Given the description of an element on the screen output the (x, y) to click on. 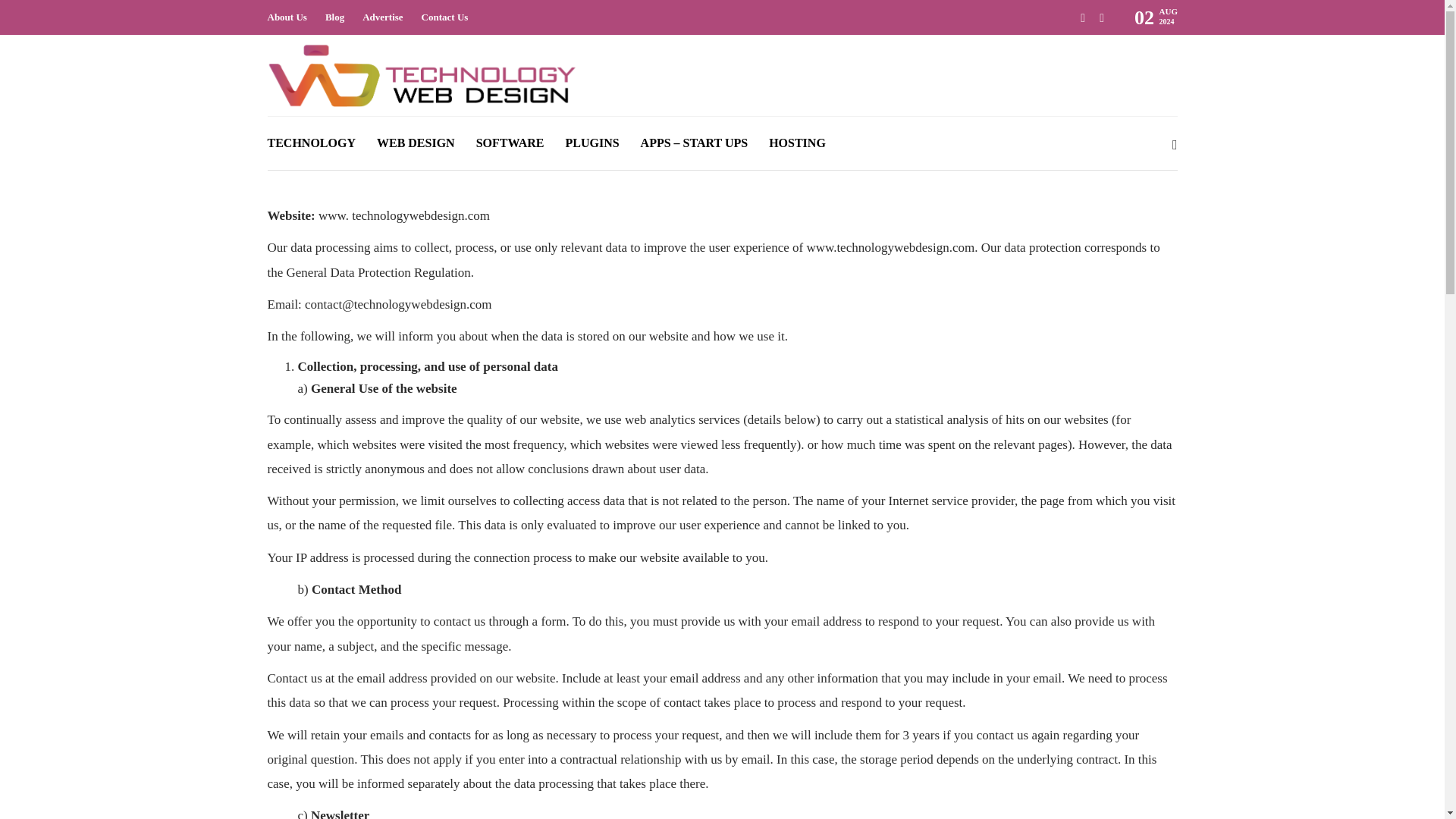
Advertise (382, 17)
Contact Us (445, 17)
WEB DESIGN (415, 143)
TECHNOLOGY (310, 143)
PLUGINS (591, 143)
About Us (285, 17)
HOSTING (796, 143)
SOFTWARE (510, 143)
www. technologywebdesign.com (403, 215)
